Given the description of an element on the screen output the (x, y) to click on. 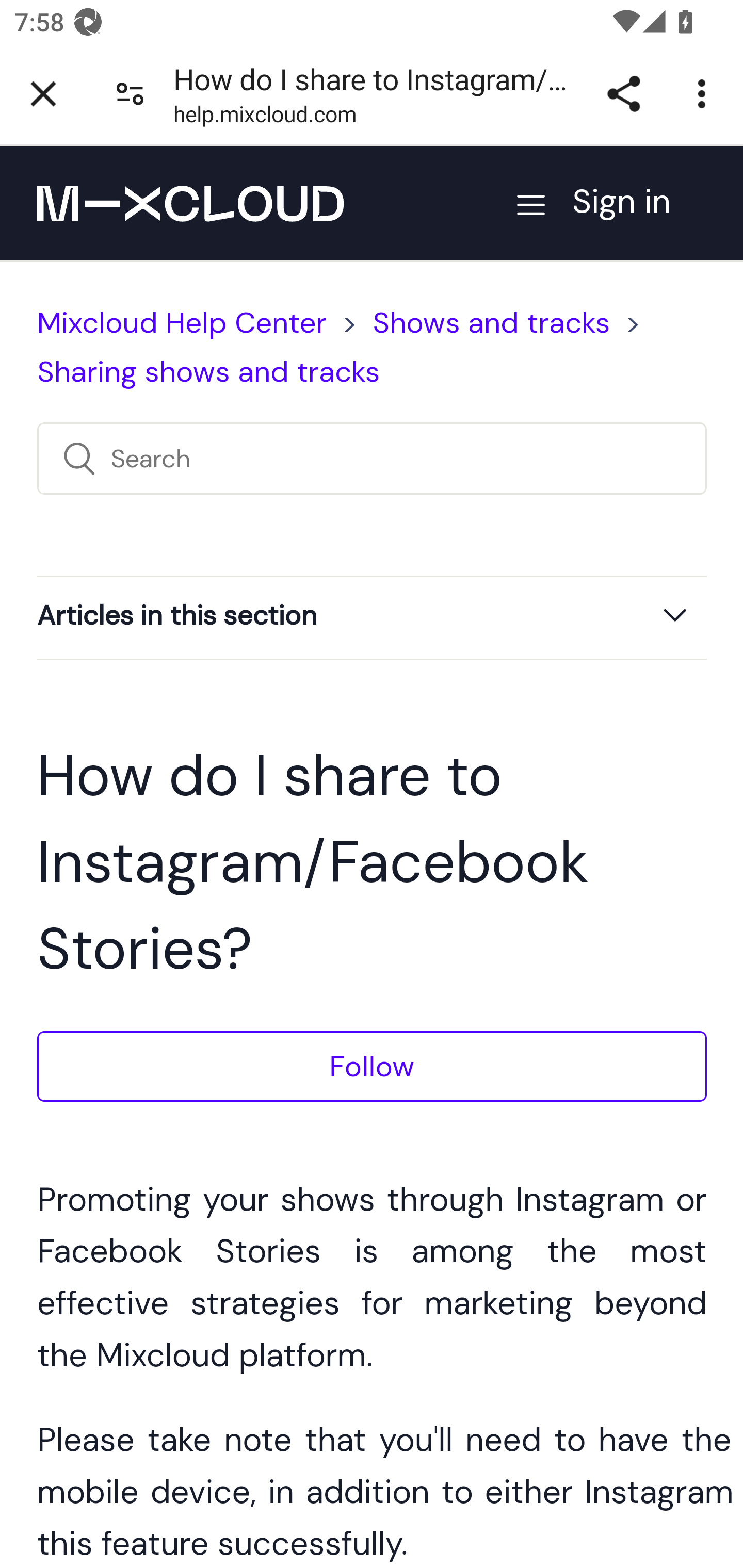
Close tab (43, 93)
Share (623, 93)
Customize and control Google Chrome (705, 93)
Connection is secure (129, 93)
help.mixcloud.com (264, 117)
Sign in (639, 202)
Toggle navigation menu (529, 202)
Home (190, 203)
Mixcloud Help Center (182, 322)
Shows and tracks (491, 322)
Sharing shows and tracks (208, 371)
How do I share to Instagram/Facebook Stories? (372, 729)
Reposting shows (372, 856)
Using the Mixcloud widget (372, 960)
Follow (372, 1065)
